Given the description of an element on the screen output the (x, y) to click on. 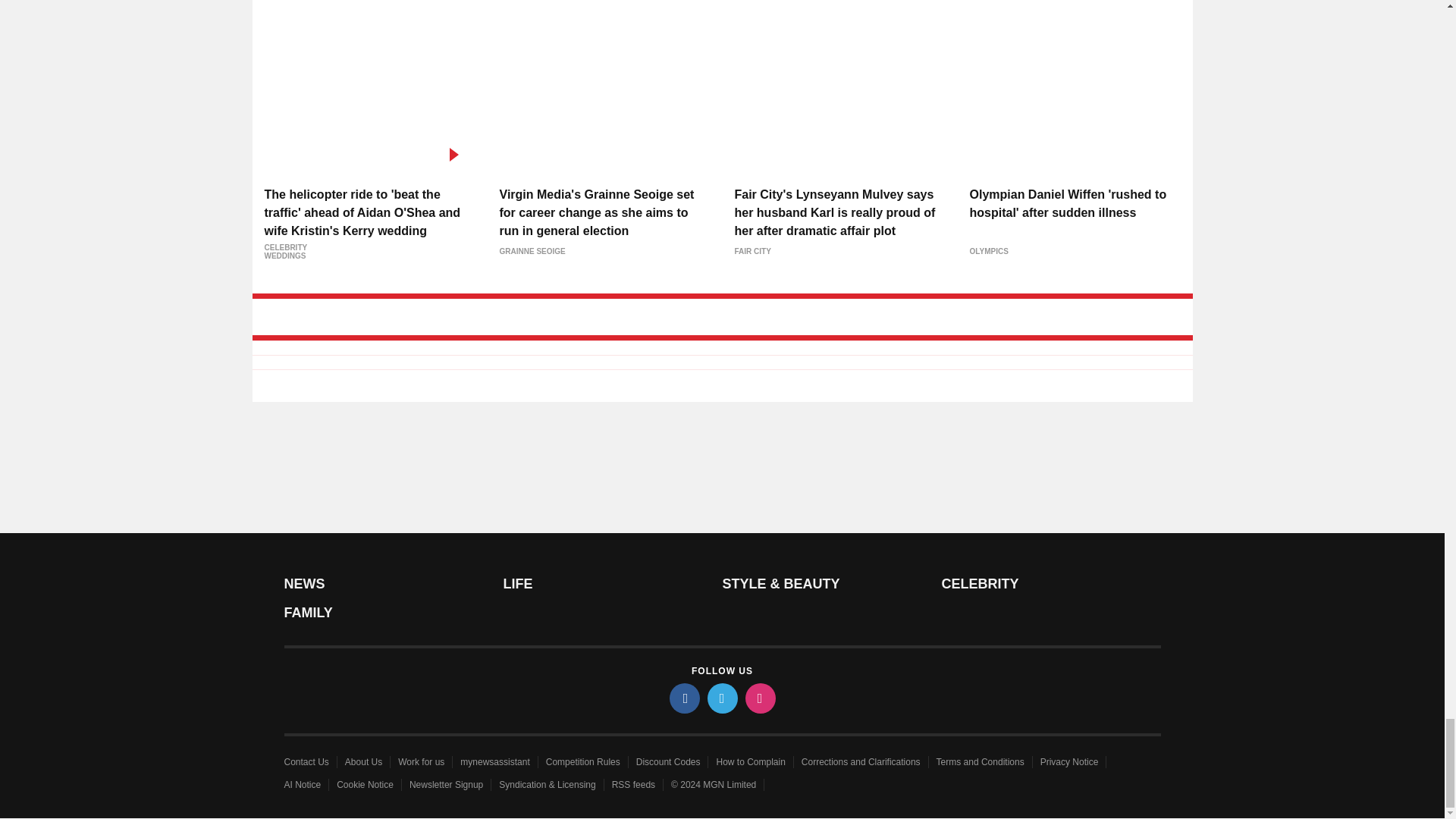
facebook (683, 698)
twitter (721, 698)
instagram (759, 698)
